Given the description of an element on the screen output the (x, y) to click on. 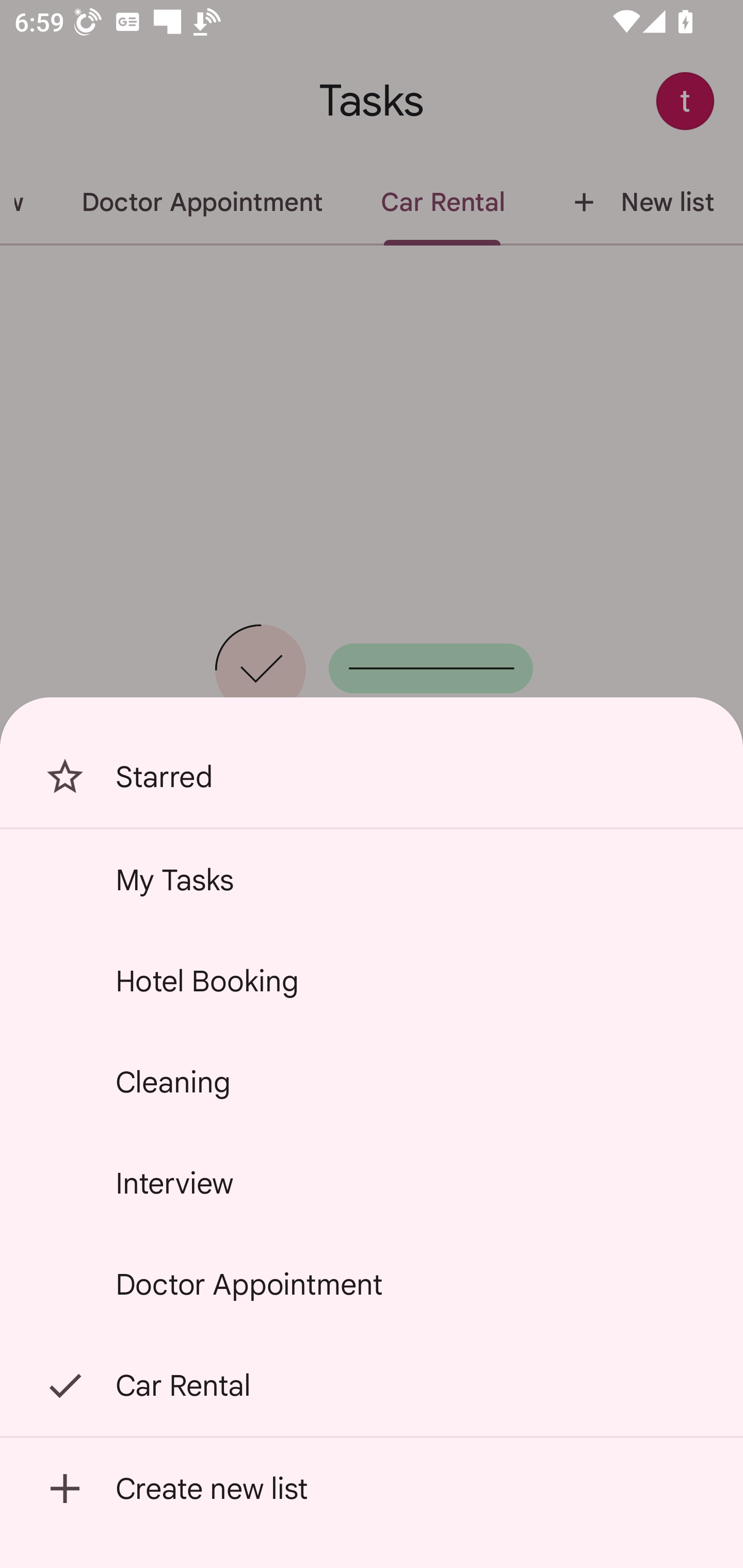
Starred (371, 776)
My Tasks (371, 879)
Hotel Booking (371, 980)
Cleaning (371, 1081)
Interview (371, 1183)
Doctor Appointment (371, 1284)
Car Rental (371, 1385)
Create new list (371, 1488)
